Given the description of an element on the screen output the (x, y) to click on. 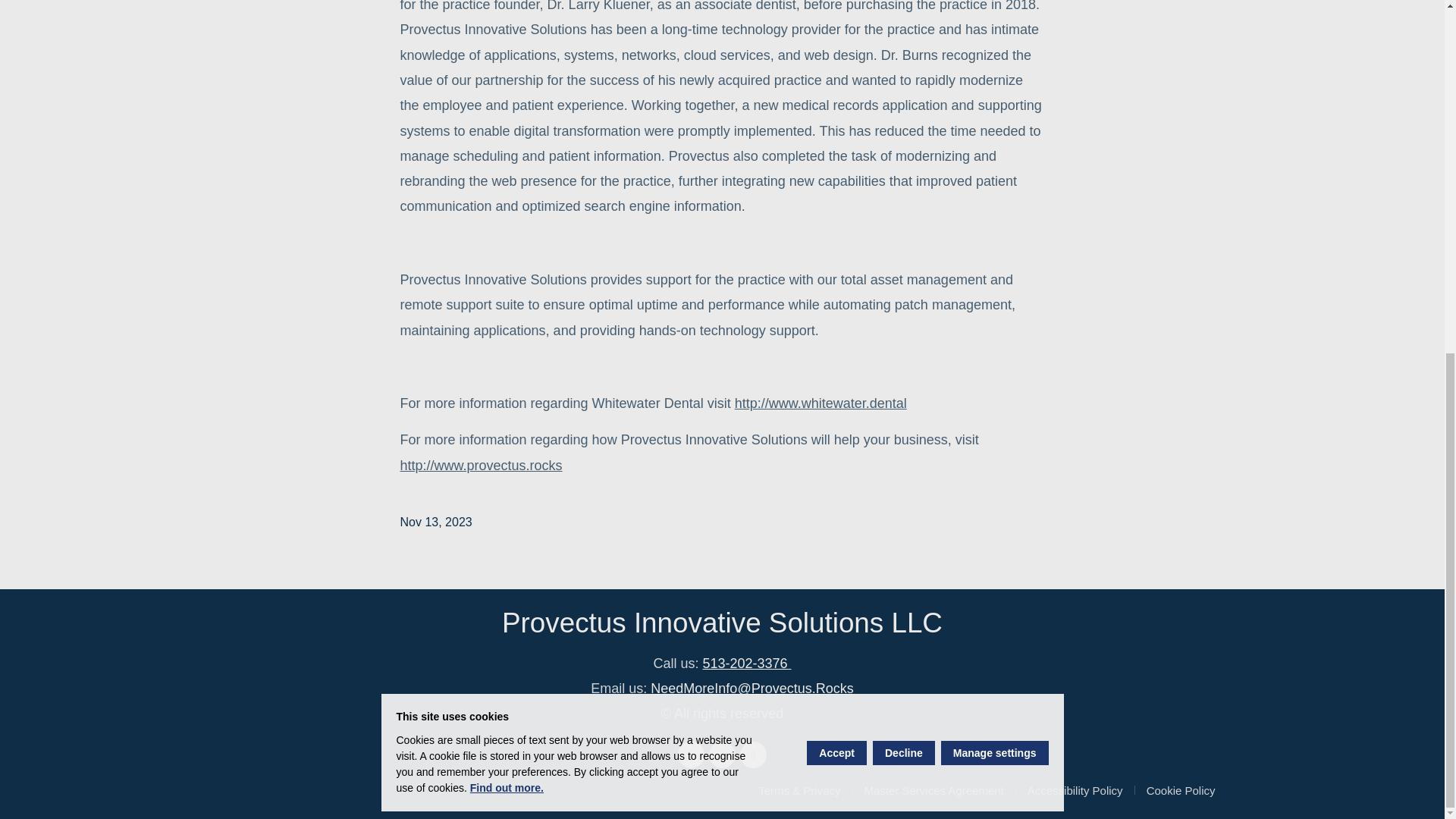
Manage settings (994, 134)
Cookie Policy (1181, 791)
Decline (903, 134)
Find out more. (506, 170)
Accessibility Policy (1081, 791)
513-202-3376  (745, 663)
Master Services Agreement (940, 791)
Accept (836, 134)
Provectus Innovative Solutions LLC (722, 622)
